Given the description of an element on the screen output the (x, y) to click on. 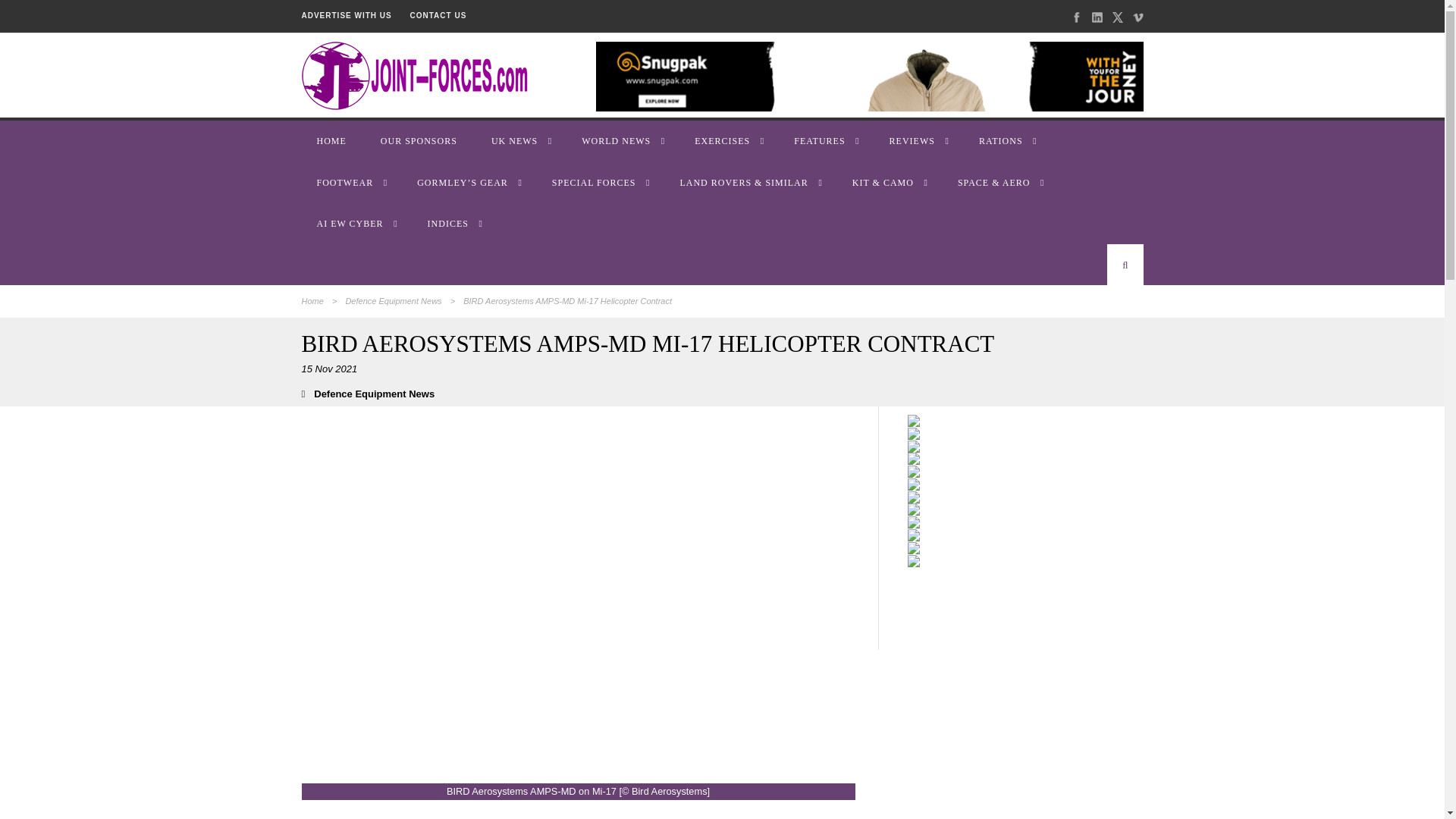
CONTACT US (438, 15)
ADVERTISE WITH US (346, 15)
